Given the description of an element on the screen output the (x, y) to click on. 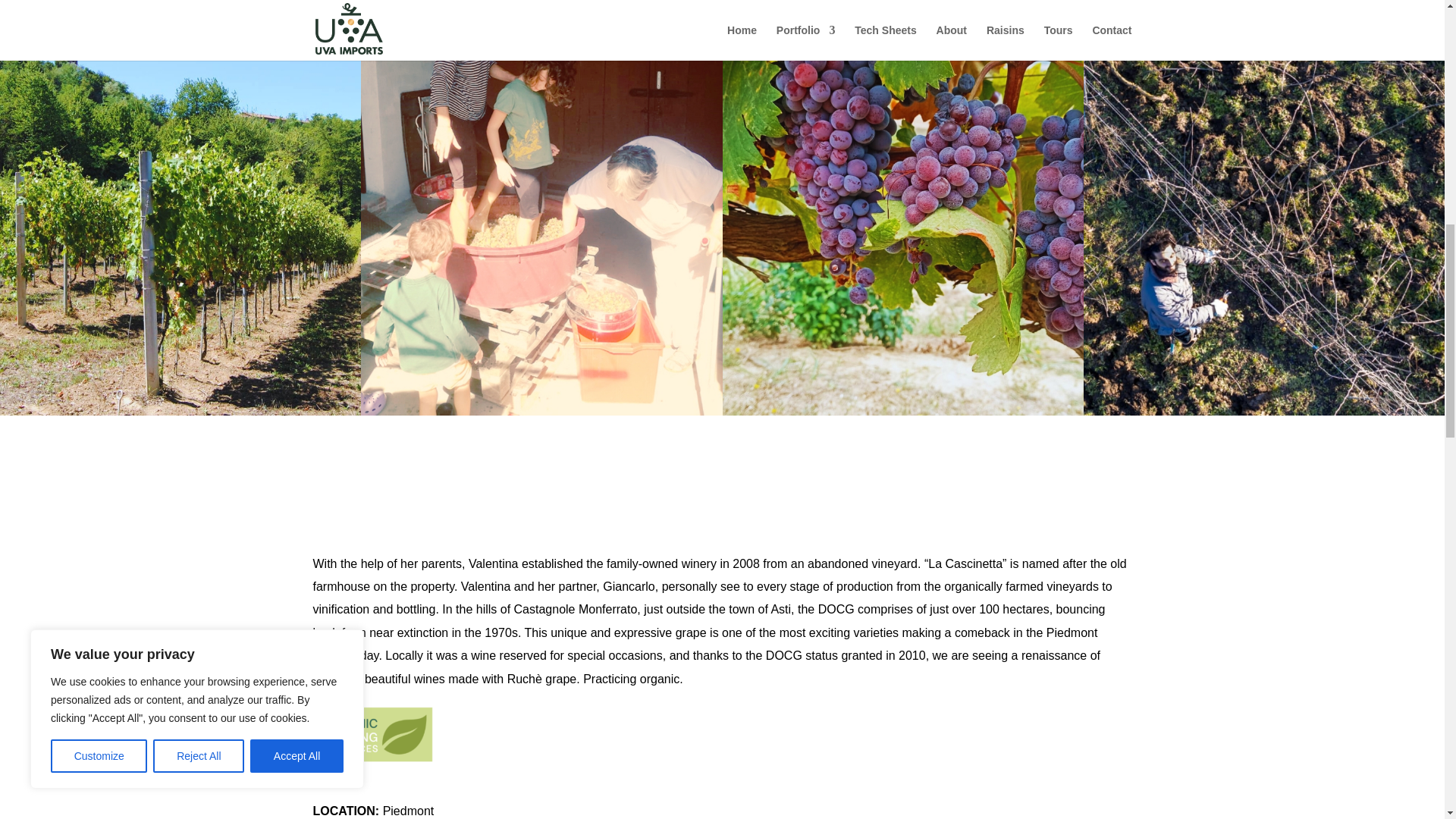
Italian castle vineyard (180, 411)
Italian wine grapes (902, 411)
Family making wine (541, 411)
